Given the description of an element on the screen output the (x, y) to click on. 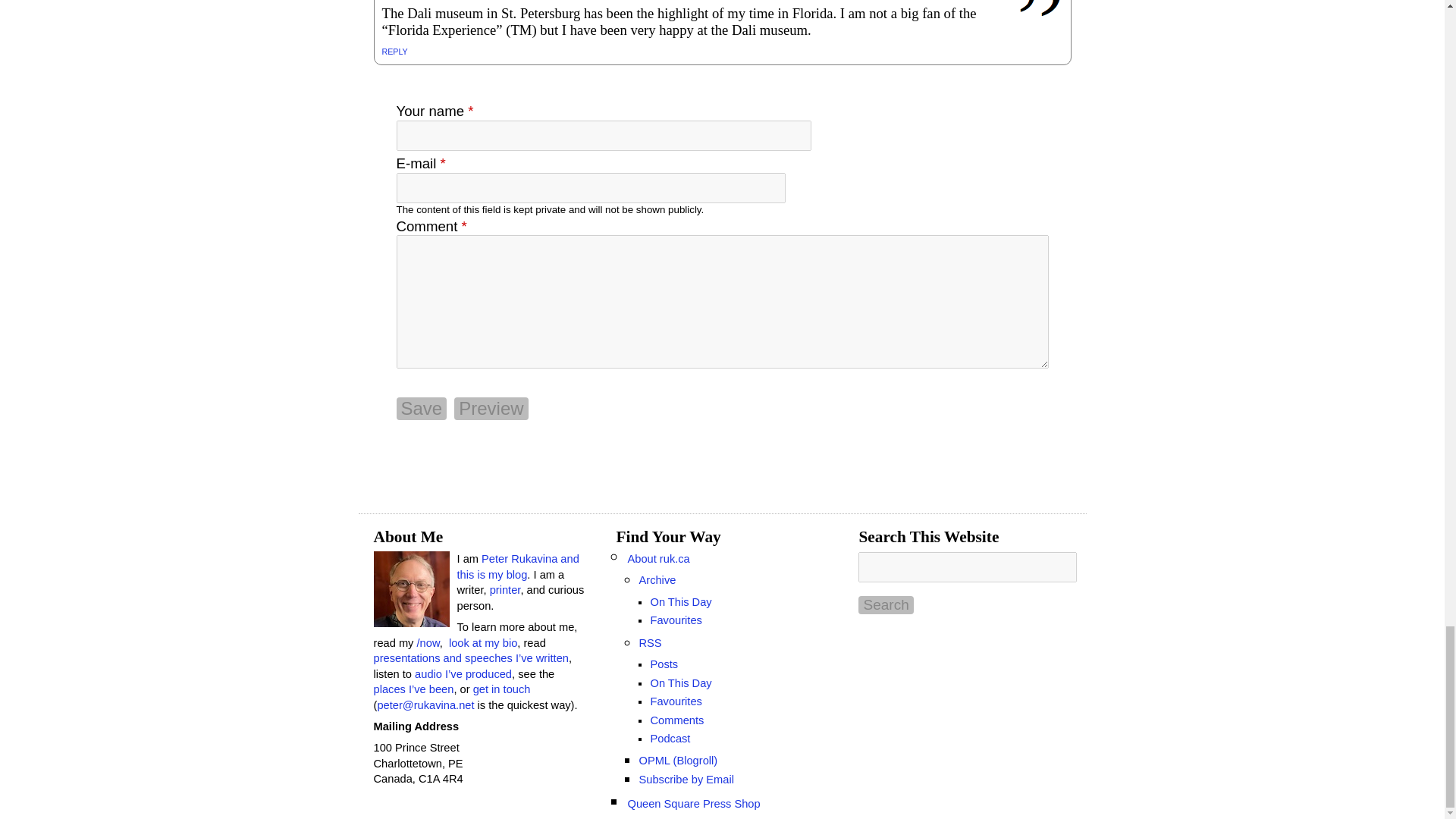
Gordie's picture (1039, 11)
My favourite posts from other people's blogs. (675, 620)
Save (421, 408)
Monthly archive of all posts on this site. (657, 580)
Peter Rukavina and this is my blog (517, 566)
get in touch (502, 689)
look at my bio (482, 643)
REPLY (394, 51)
Search (885, 605)
Save (421, 408)
